Given the description of an element on the screen output the (x, y) to click on. 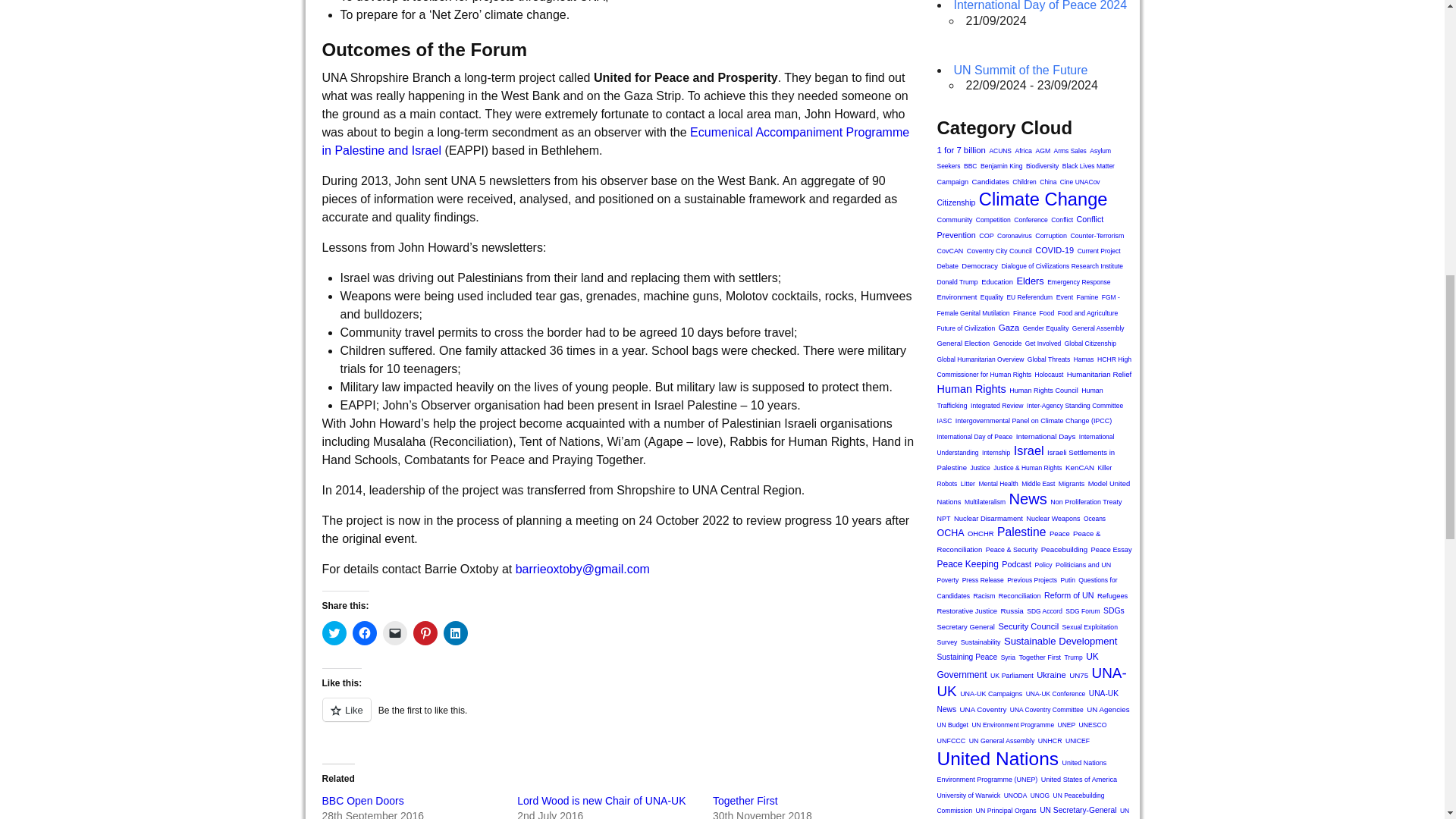
BBC Open Doors (362, 800)
Lord Wood is new Chair of UNA-UK (600, 800)
Click to share on Pinterest (424, 632)
Click to share on Facebook (363, 632)
Click to email a link to a friend (393, 632)
Click to share on Twitter (333, 632)
Like or Reblog (617, 718)
Together First (745, 800)
Click to share on LinkedIn (454, 632)
